Given the description of an element on the screen output the (x, y) to click on. 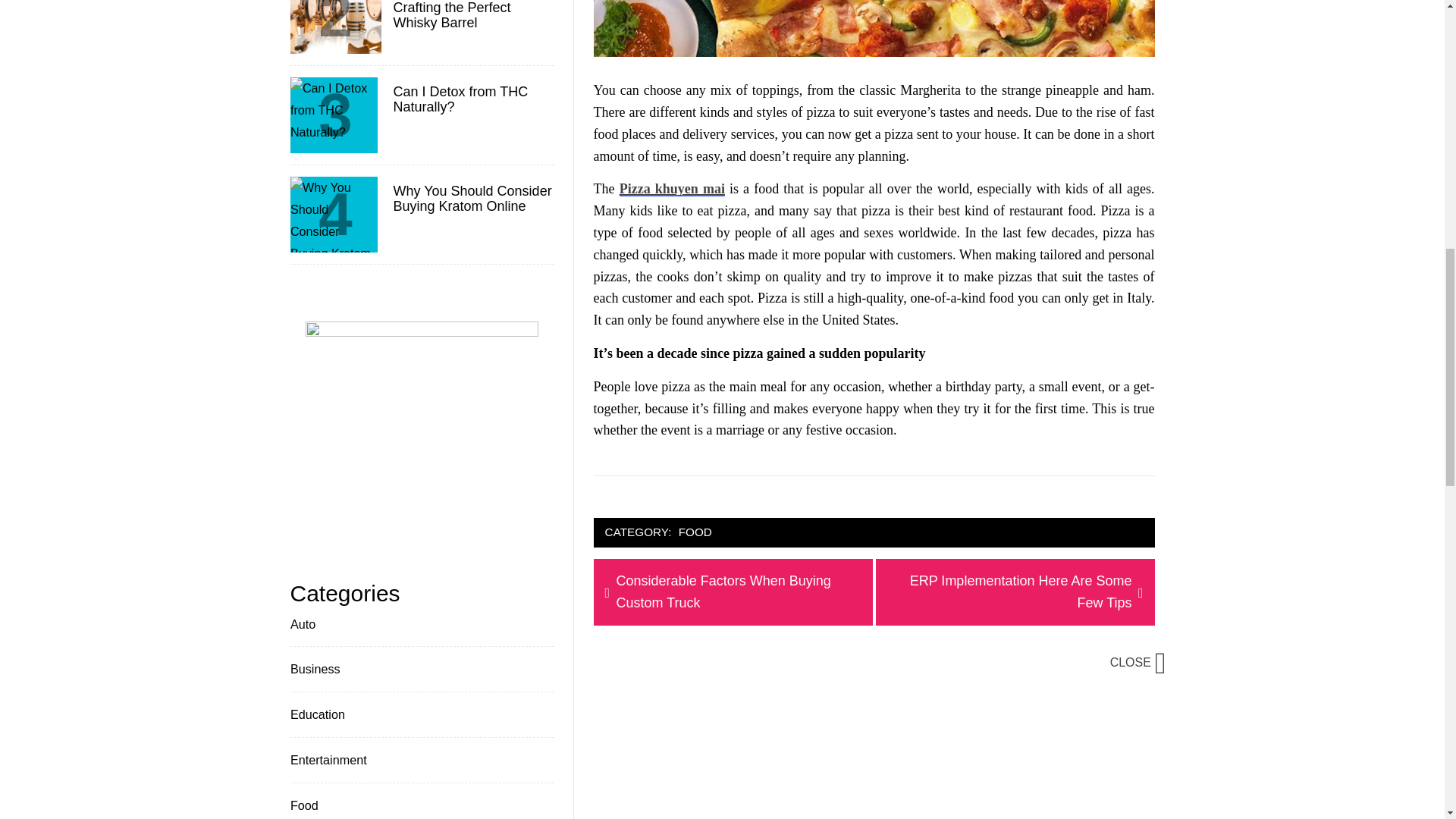
Business (313, 669)
Education (1014, 592)
From Oak to Spirit: Crafting the Perfect Whisky Barrel (315, 714)
Entertainment (733, 592)
Pizza khuyen mai (471, 15)
Food (326, 760)
Why You Should Consider Buying Kratom Online (672, 188)
FOOD (302, 805)
